Given the description of an element on the screen output the (x, y) to click on. 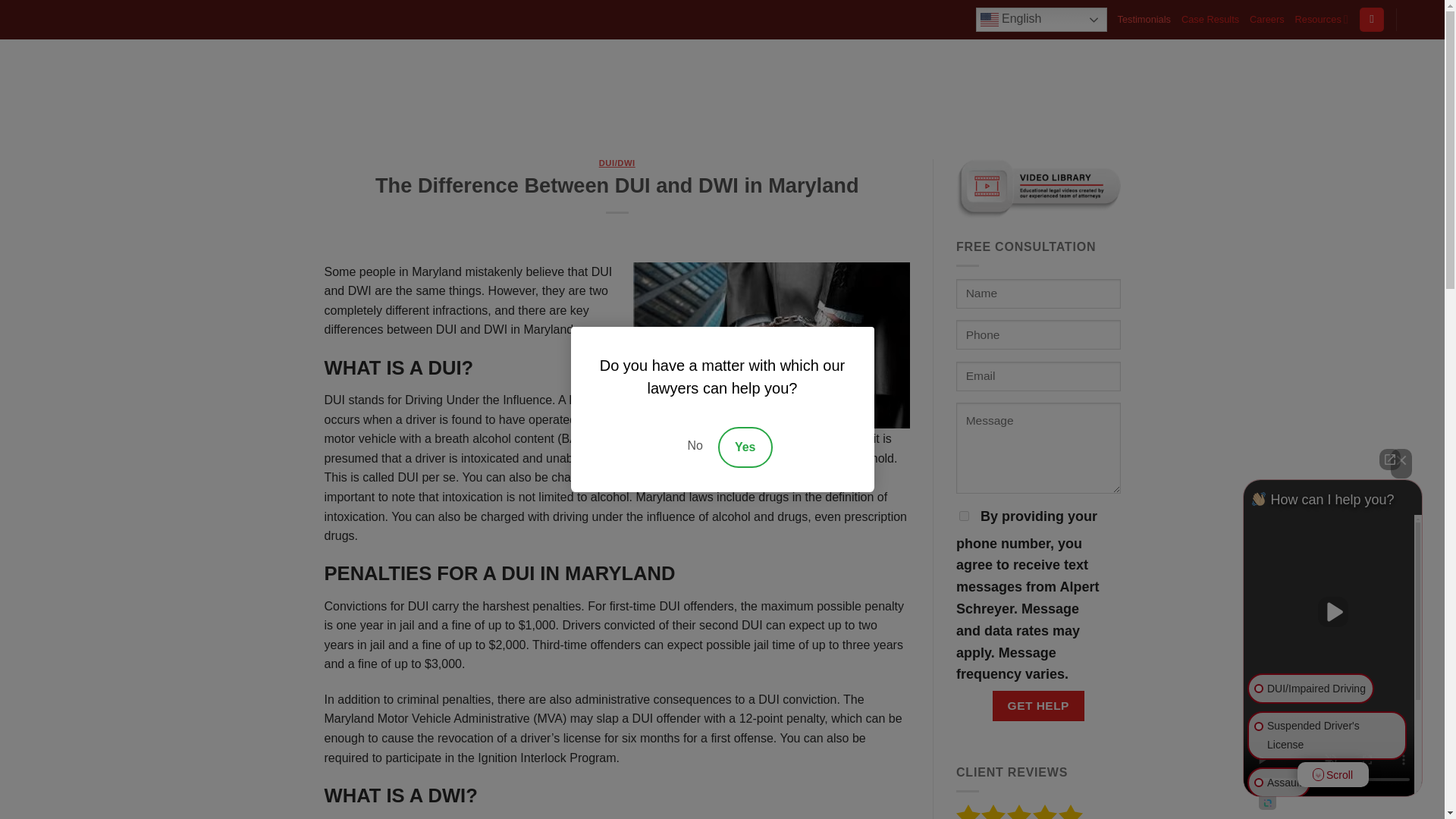
DUI (810, 90)
Testimonials (1144, 19)
Case Results (1209, 19)
English (1040, 19)
Resources (1321, 19)
Firm Overview (723, 90)
Get Help (1038, 705)
